Given the description of an element on the screen output the (x, y) to click on. 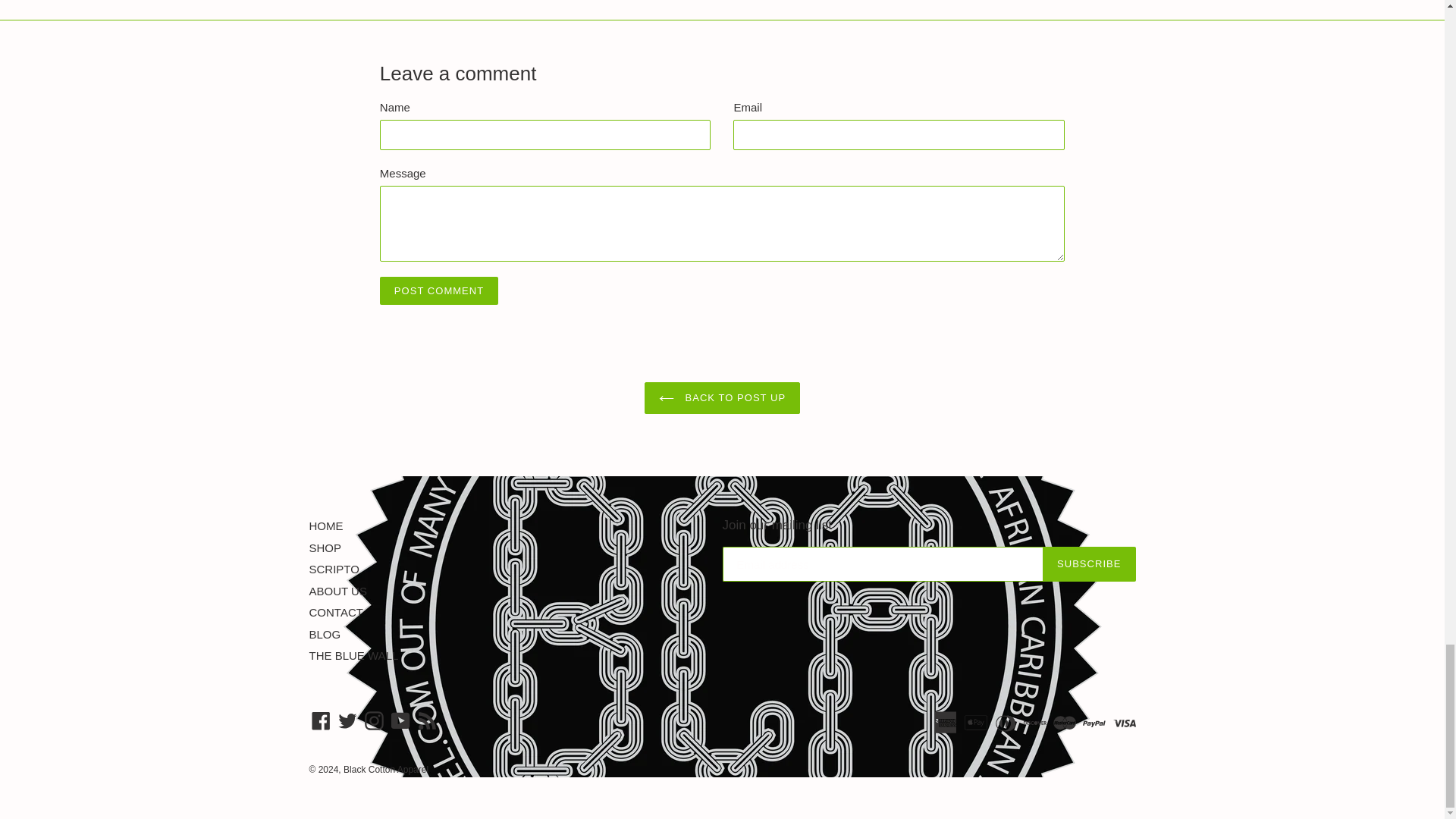
Black Cotton Apparel on Facebook (320, 720)
Black Cotton Apparel on Twitter (347, 720)
Post comment (438, 290)
Black Cotton Apparel on Instagram (373, 720)
Black Cotton Apparel on YouTube (400, 720)
